Given the description of an element on the screen output the (x, y) to click on. 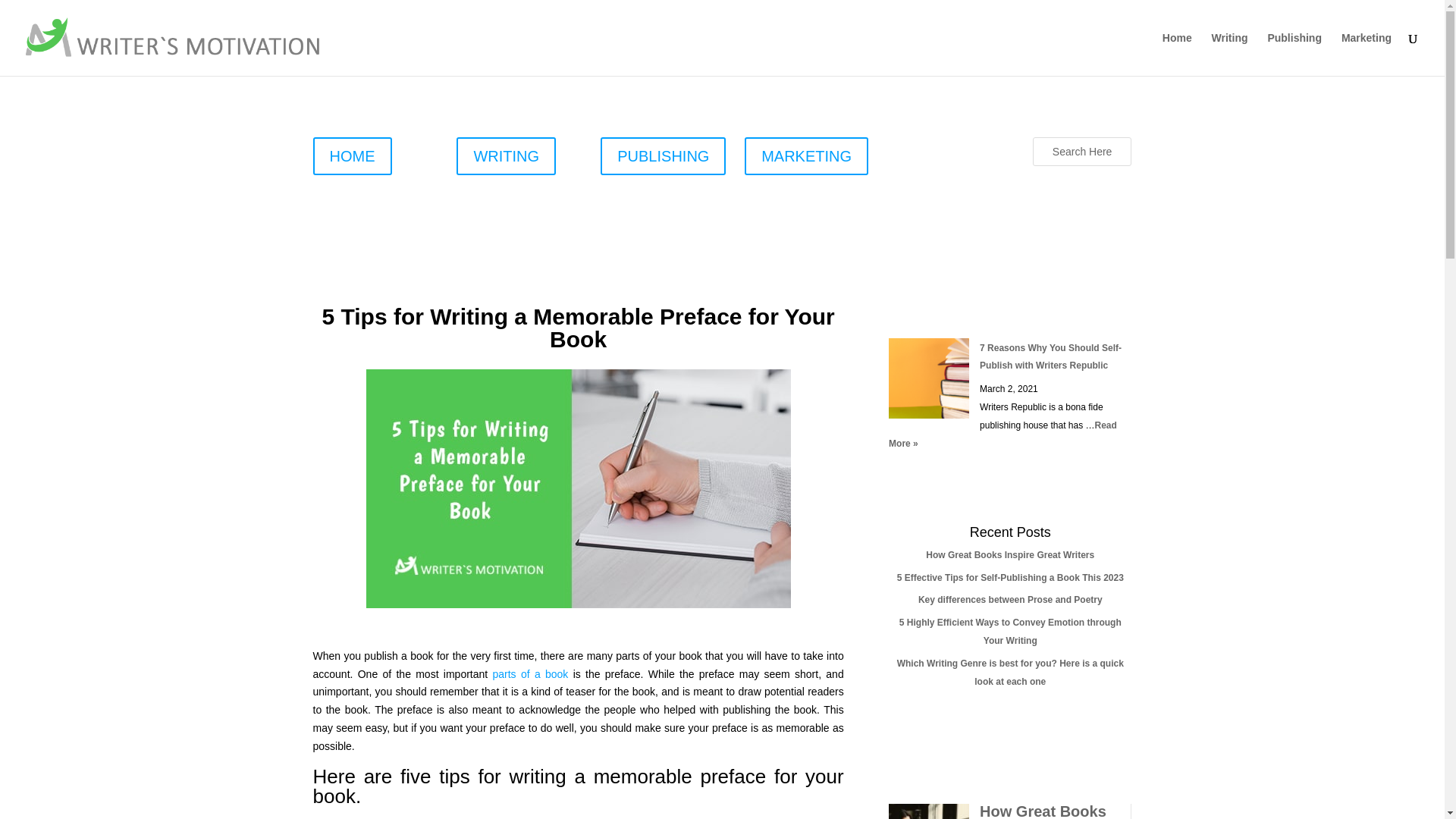
parts of a book (531, 674)
5 Effective Tips for Self-Publishing a Book This 2023 (1010, 577)
HOME (352, 156)
PUBLISHING (662, 156)
Marketing (1365, 54)
Key differences between Prose and Poetry (1010, 599)
MARKETING (805, 156)
How Great Books Inspire Great Writers (1042, 811)
